Given the description of an element on the screen output the (x, y) to click on. 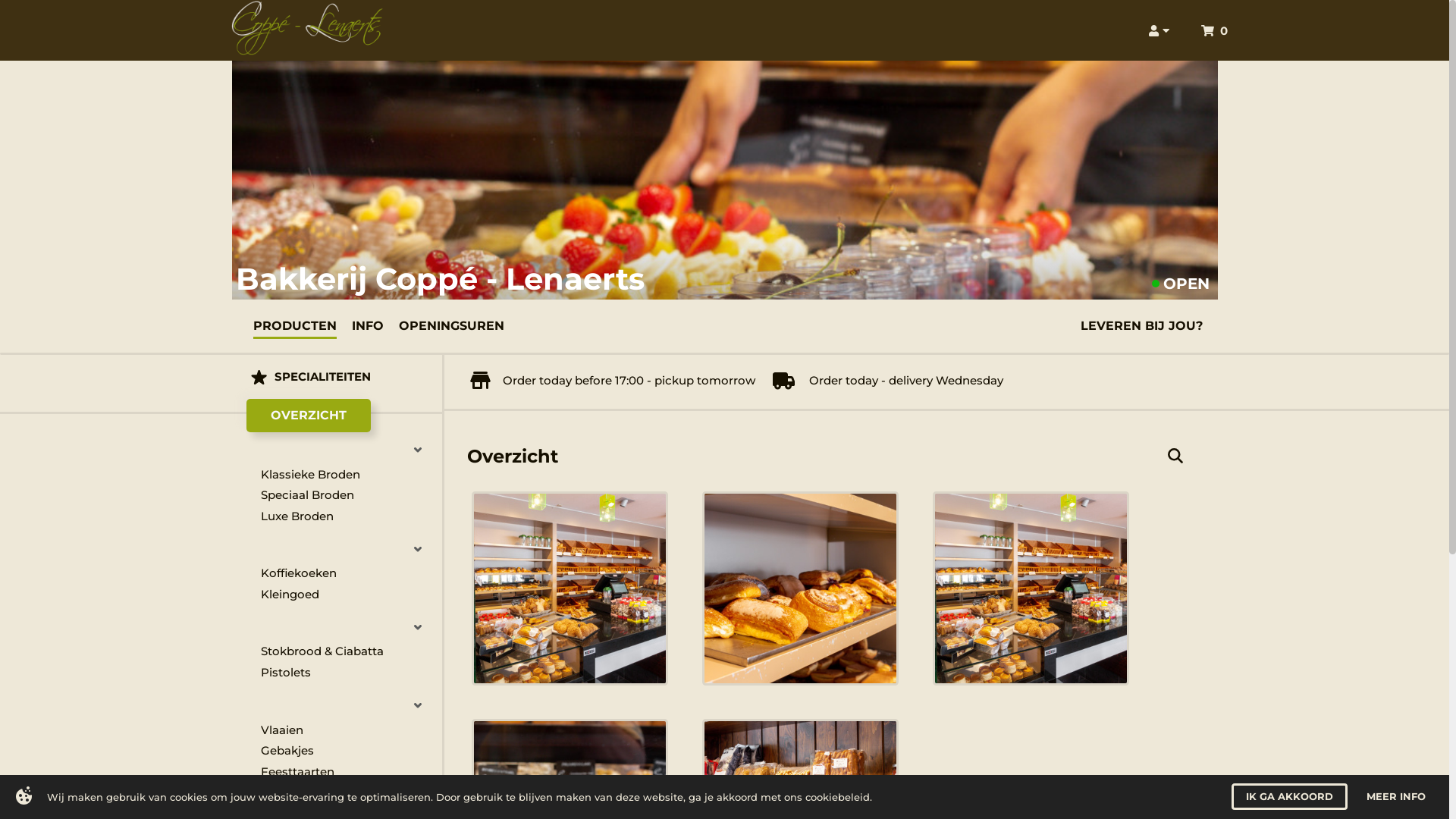
Speciaal Broden Element type: text (346, 495)
Order today before 17:00 - pickup tomorrow Element type: text (612, 379)
Luxe Broden Element type: text (346, 516)
INFO Element type: text (367, 325)
MEER INFO Element type: text (1395, 796)
IK GA AKKOORD Element type: text (1289, 796)
Koffiekoeken Element type: text (346, 573)
OPENINGSUREN Element type: text (451, 325)
Vlaaien Element type: text (346, 730)
Gebakjes Element type: text (346, 751)
Klassieke Broden Element type: text (346, 474)
0 Element type: text (1214, 29)
SPECIALITEITEN Element type: text (337, 377)
Stokbrood & Ciabatta Element type: text (346, 652)
Feesttaarten Element type: text (346, 771)
OVERZICHT Element type: text (307, 414)
Pistolets Element type: text (346, 672)
PRODUCTEN Element type: text (294, 325)
LEVEREN BIJ JOU? Element type: text (1140, 325)
Order today - delivery Wednesday Element type: text (887, 380)
Kleingoed Element type: text (346, 594)
